Given the description of an element on the screen output the (x, y) to click on. 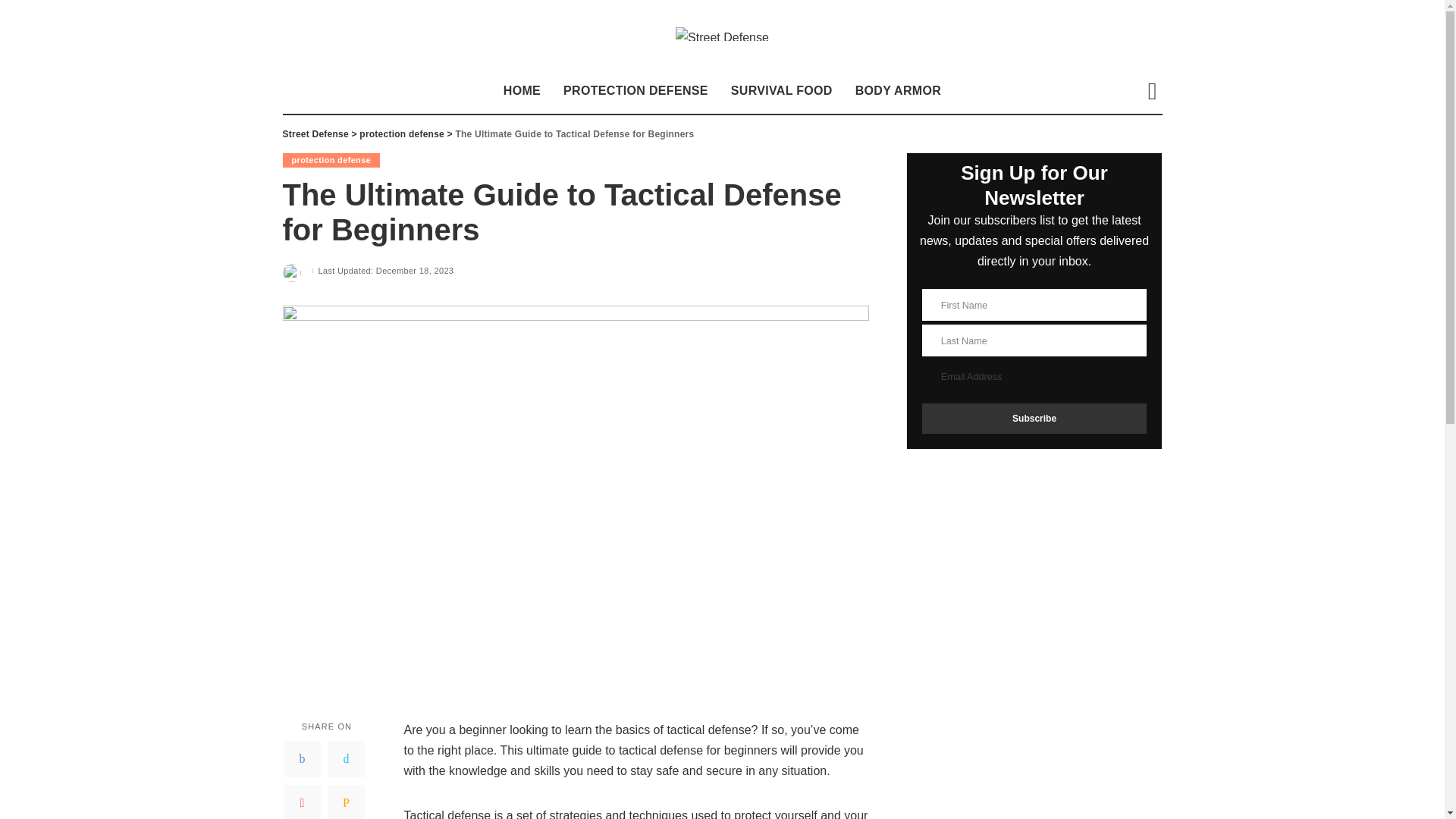
Go to Street Defense. (314, 133)
Street Defense (314, 133)
Email (345, 801)
HOME (521, 90)
protection defense (401, 133)
Pinterest (301, 801)
Subscribe (1034, 418)
Street Defense (721, 33)
BODY ARMOR (898, 90)
protection defense (331, 160)
